Given the description of an element on the screen output the (x, y) to click on. 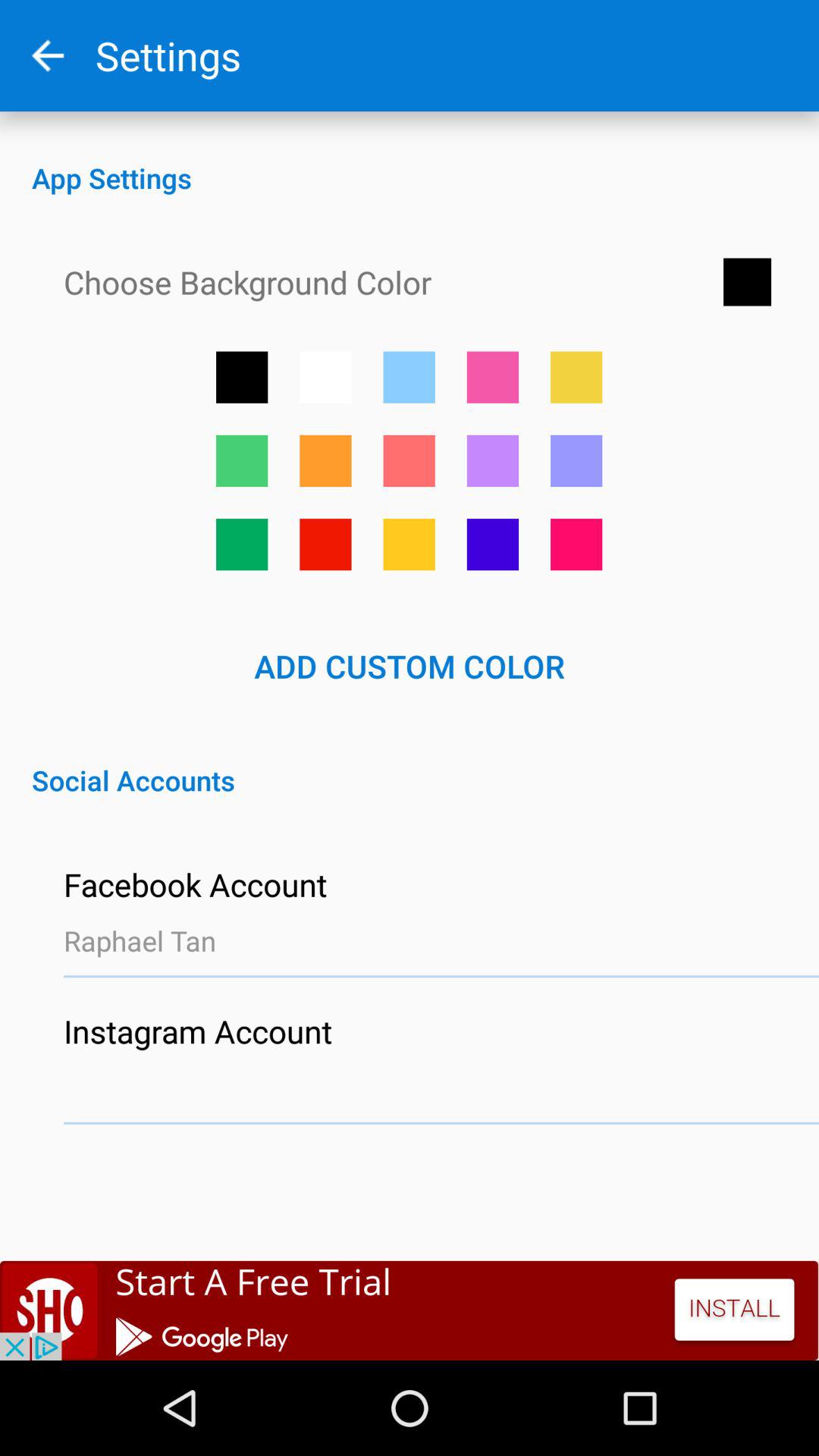
open advertisement (409, 1310)
